Given the description of an element on the screen output the (x, y) to click on. 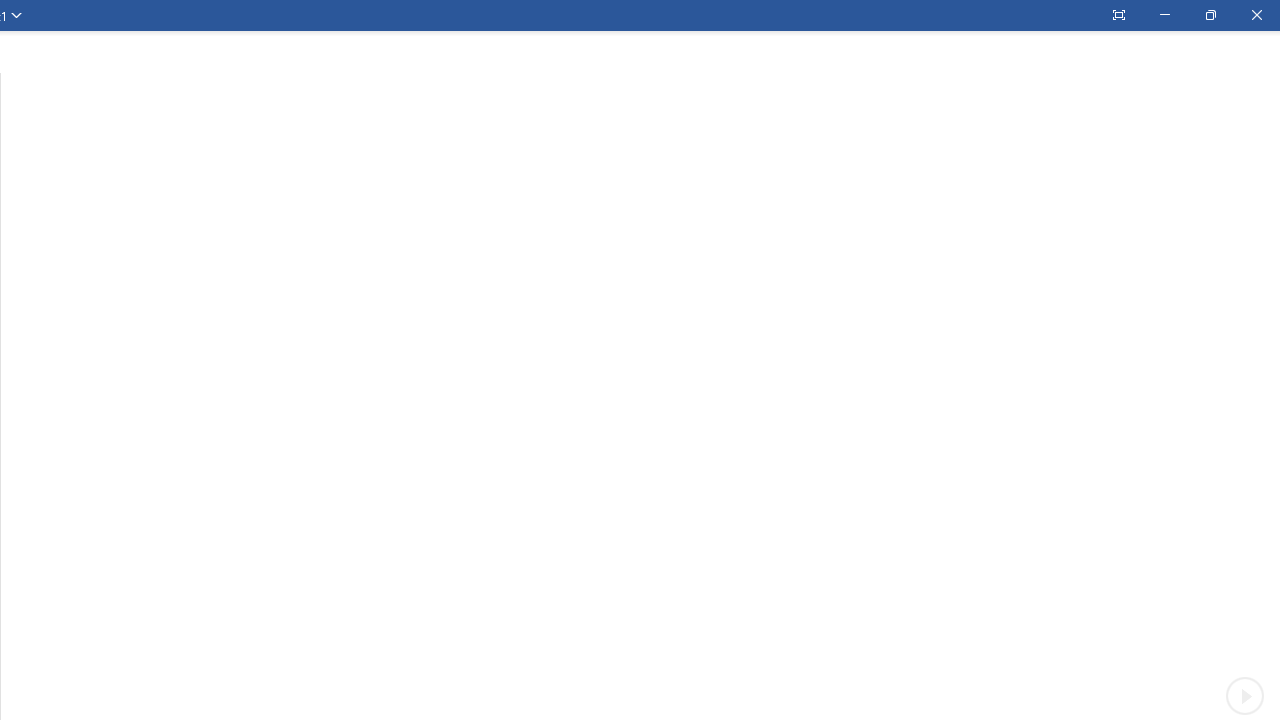
Close (1256, 15)
Restore Down (1210, 15)
Minimize (1164, 15)
Auto-hide Reading Toolbar (1118, 15)
